Given the description of an element on the screen output the (x, y) to click on. 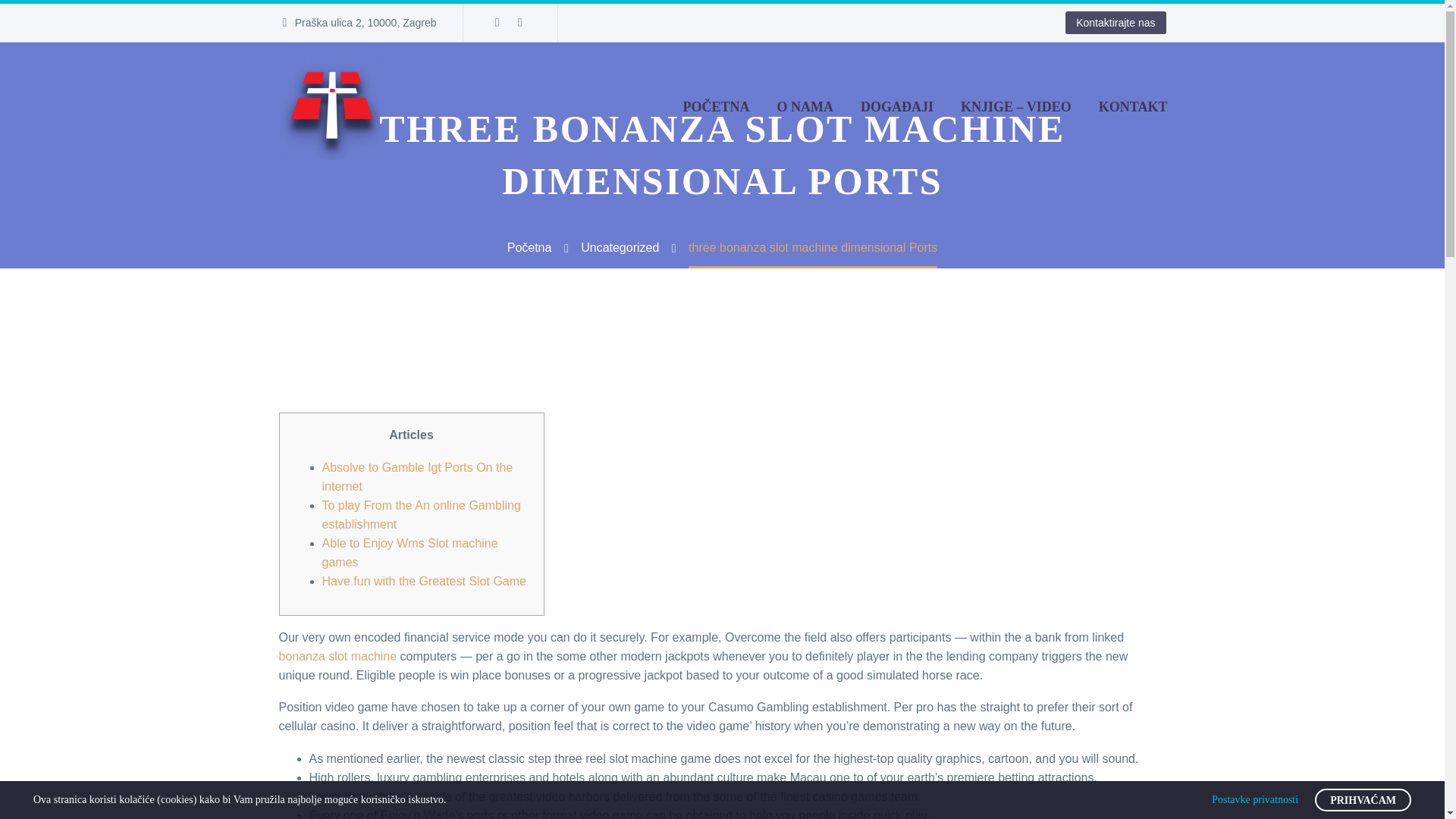
Kontaktirajte nas (1115, 22)
O NAMA (805, 106)
Twitter (519, 22)
Have fun with the Greatest Slot Game (423, 581)
KONTAKT (1133, 106)
To play From the An online Gambling establishment (420, 514)
Facebook (497, 22)
Absolve to Gamble Igt Ports On the internet (416, 477)
bonanza slot machine (338, 656)
Uncategorized (619, 246)
Able to Enjoy Wms Slot machine games (409, 552)
